Given the description of an element on the screen output the (x, y) to click on. 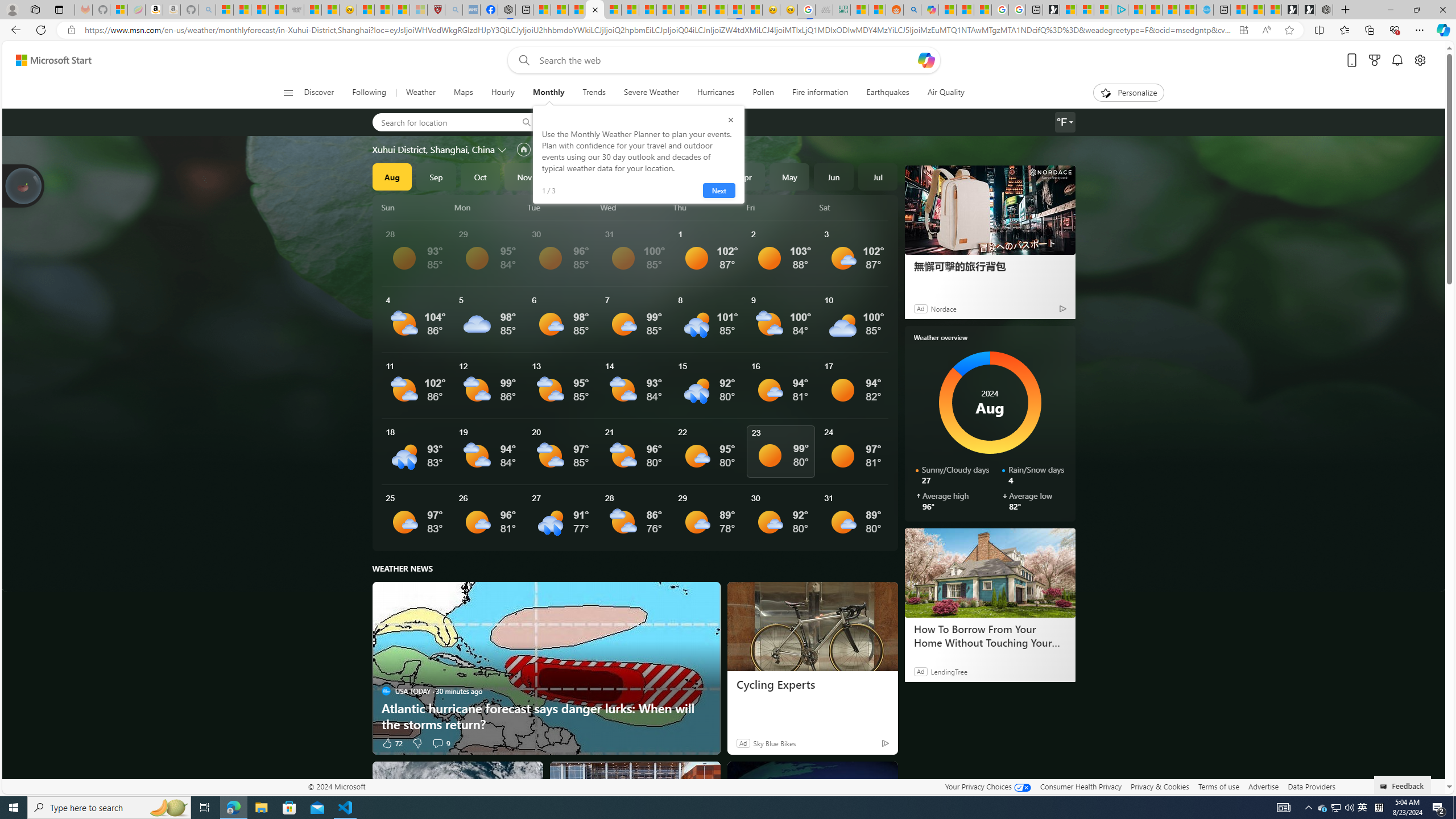
Tue (561, 207)
Oct (480, 176)
Next (718, 190)
